Given the description of an element on the screen output the (x, y) to click on. 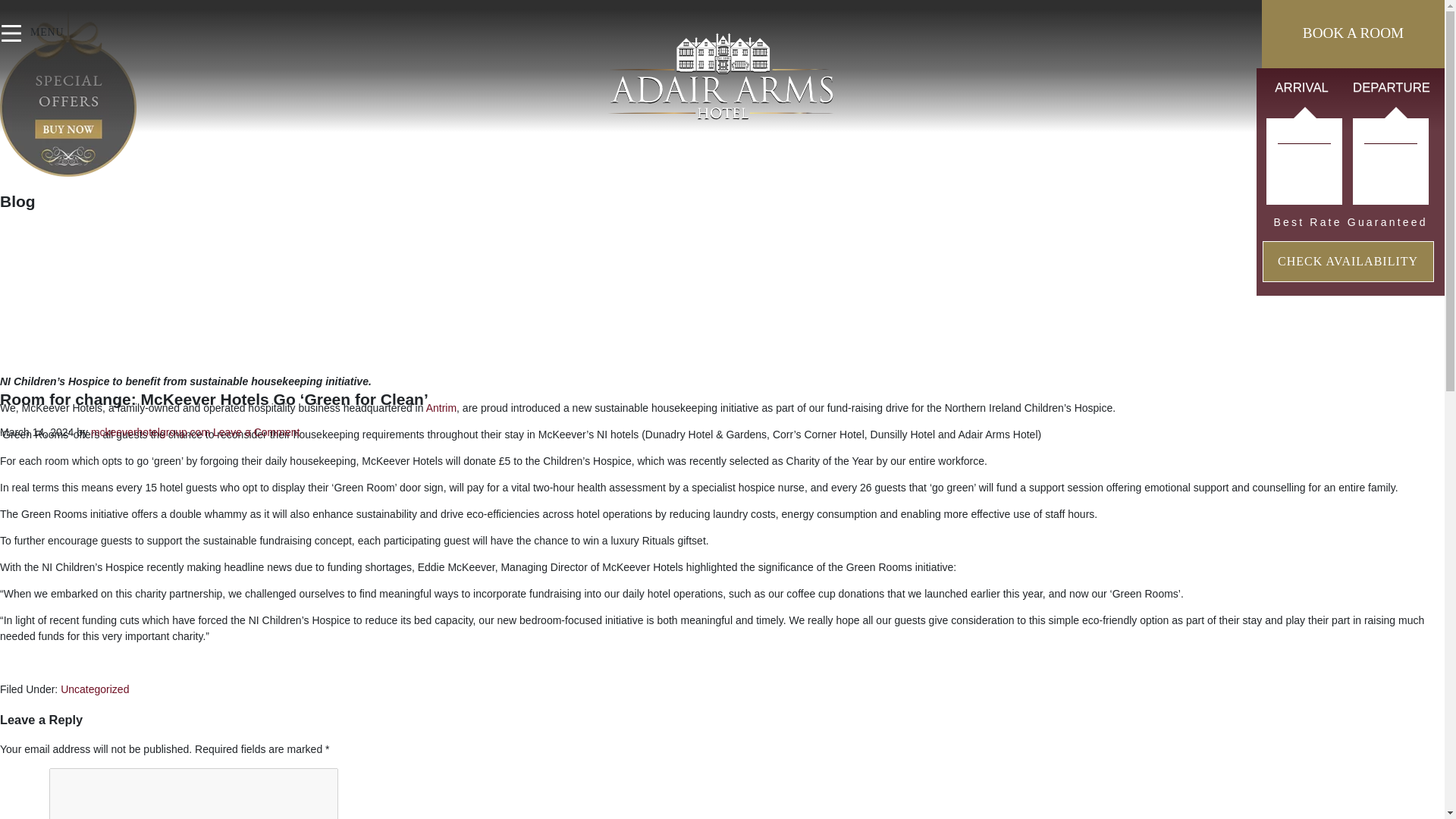
Leave a Comment (255, 431)
mckeeverhotelgroup.com (149, 431)
MENU (15, 38)
CHECK AVAILABILITY (1348, 260)
Antrim (441, 408)
Uncategorized (95, 689)
Best Rate Guaranteed (1349, 222)
